Given the description of an element on the screen output the (x, y) to click on. 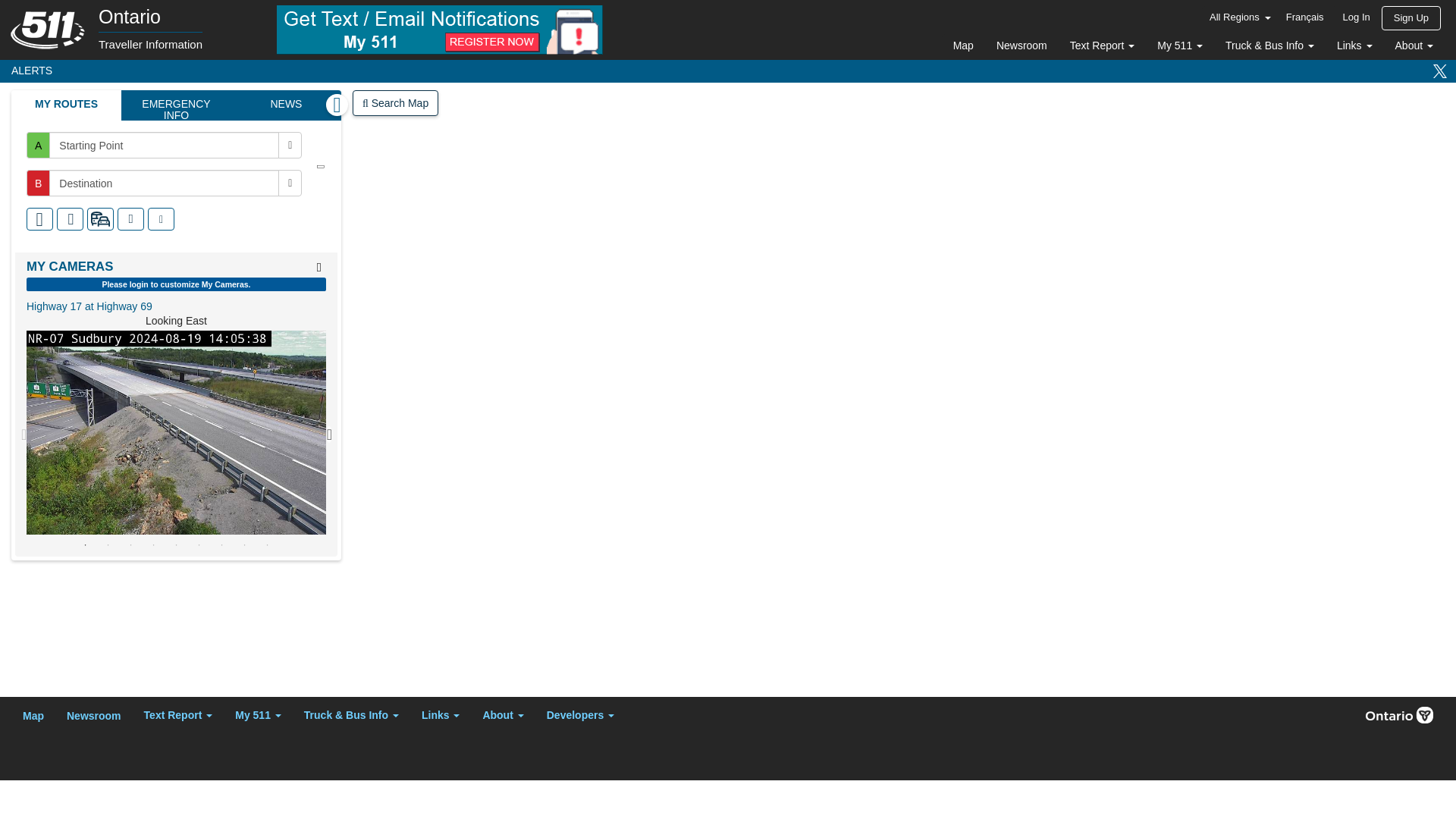
Text Report (1101, 46)
All Regions (1411, 17)
Log In (1237, 17)
Map (1356, 18)
All Regions (963, 46)
Text Report Menu (728, 70)
Newsroom Menu (1240, 18)
